Given the description of an element on the screen output the (x, y) to click on. 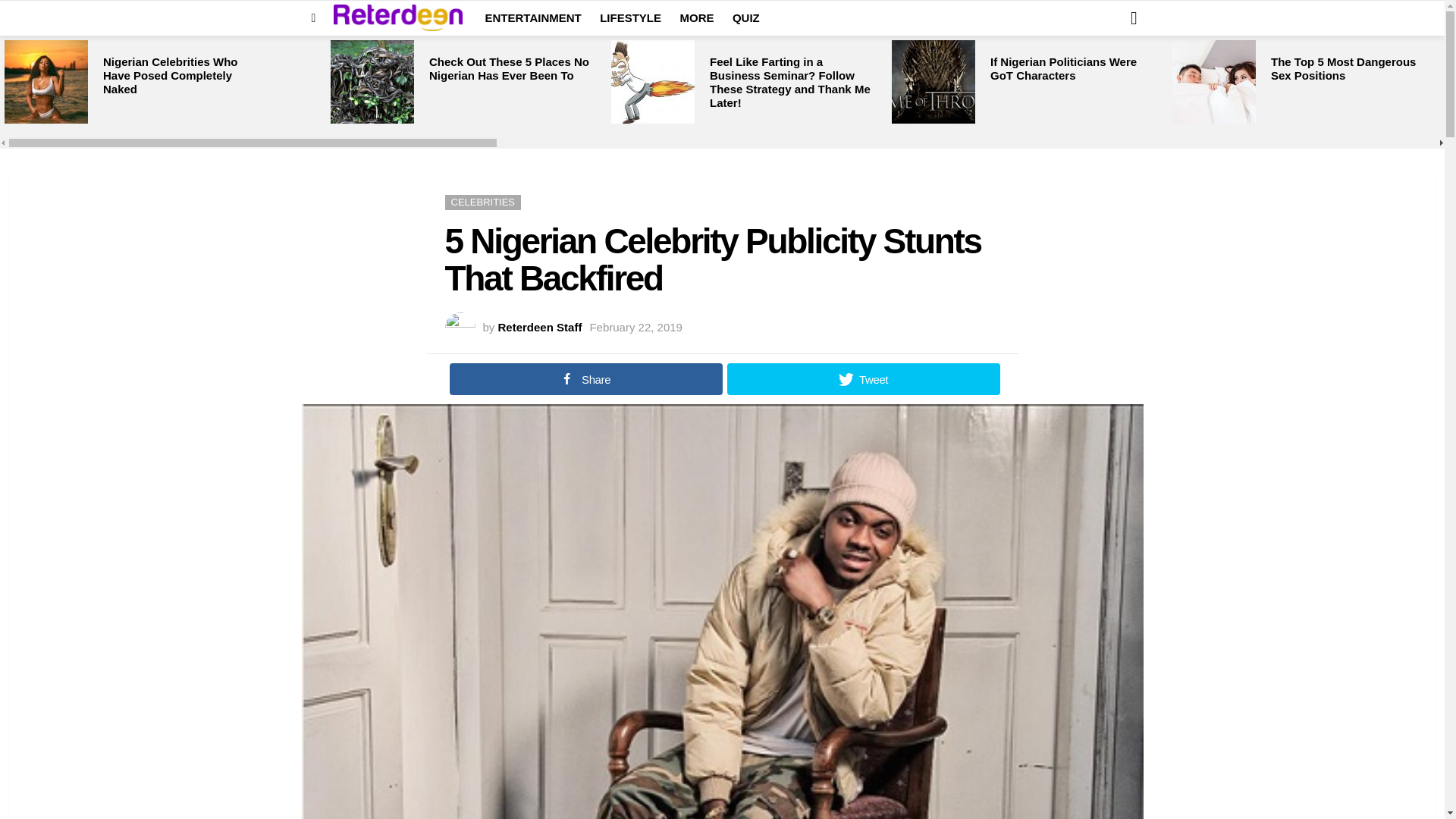
If Nigerian Politicians Were GoT Characters (933, 81)
Nigerian Celebrities Who Have Posed Completely Naked (45, 81)
QUIZ (746, 17)
Check Out These 5 Places No Nigerian Has Ever Been To (509, 68)
Menu (313, 18)
Nigerian Celebrities Who Have Posed Completely Naked (170, 75)
Check Out These 5 Places No Nigerian Has Ever Been To (371, 81)
ENTERTAINMENT (533, 17)
The Top 5 Most Dangerous Sex Positions (1213, 81)
MORE (695, 17)
The Top 5 Most Dangerous Sex Positions (1343, 68)
If Nigerian Politicians Were GoT Characters (1063, 68)
LIFESTYLE (630, 17)
